Given the description of an element on the screen output the (x, y) to click on. 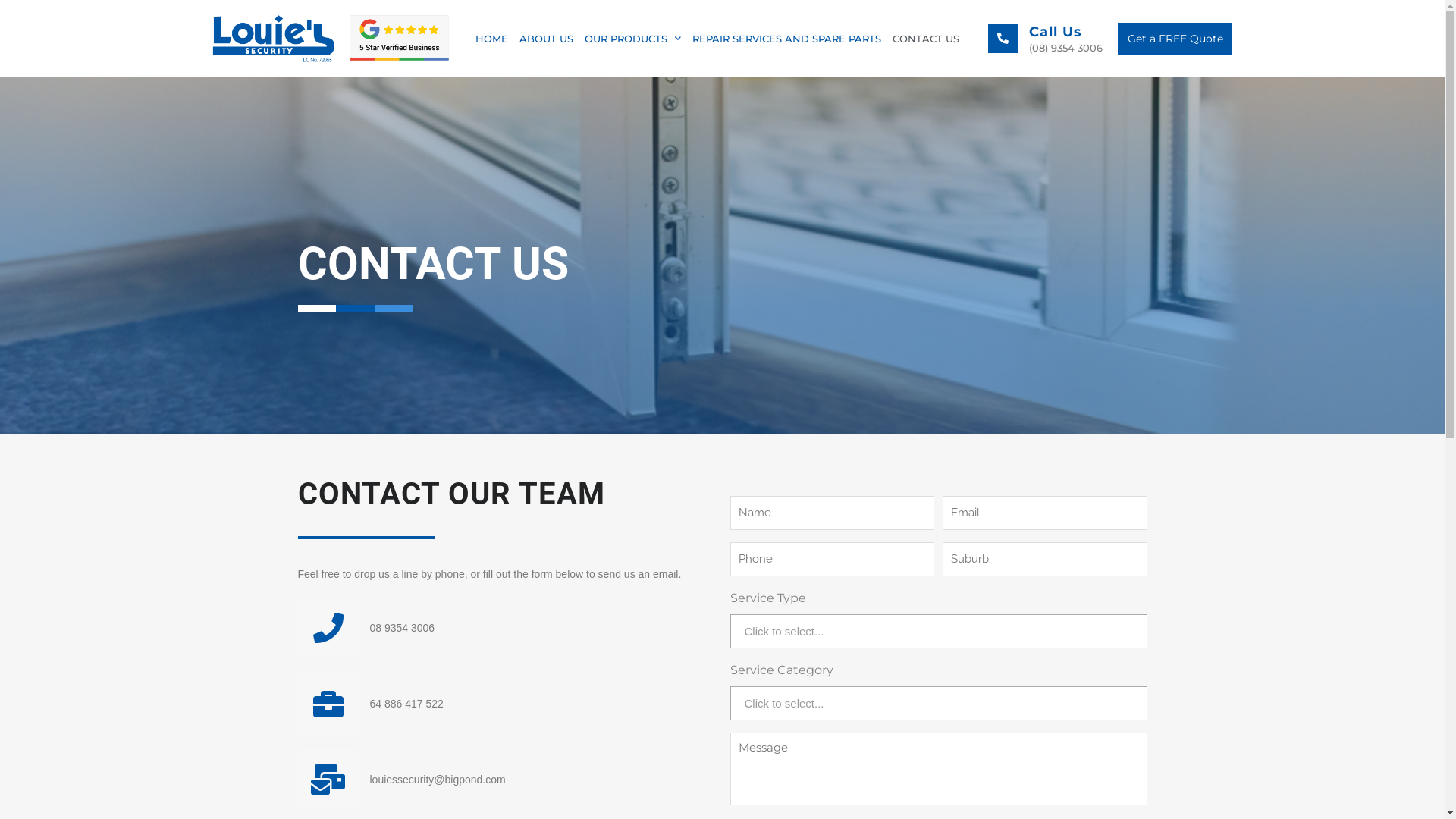
OUR PRODUCTS Element type: text (632, 38)
CONTACT US Element type: text (925, 38)
Call Us Element type: text (1055, 31)
REPAIR SERVICES AND SPARE PARTS Element type: text (786, 38)
Get a FREE Quote Element type: text (1174, 38)
google-badge Element type: hover (398, 37)
ABOUT US Element type: text (546, 38)
HOME Element type: text (491, 38)
